Given the description of an element on the screen output the (x, y) to click on. 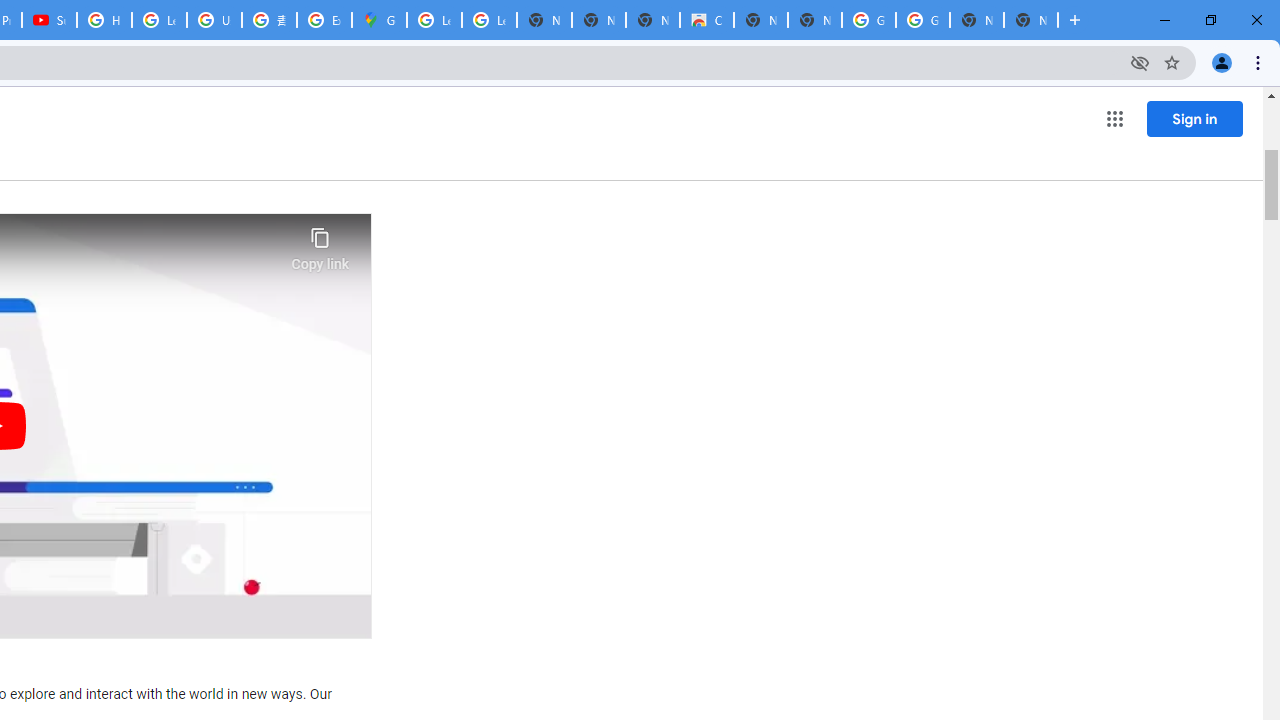
Google apps (1114, 118)
Sign in (1194, 118)
New Tab (1030, 20)
Bookmark this tab (1171, 62)
New Tab (1075, 20)
Chrome (1260, 62)
Restore (1210, 20)
Subscriptions - YouTube (48, 20)
How Chrome protects your passwords - Google Chrome Help (103, 20)
Google Maps (379, 20)
You (1221, 62)
